Given the description of an element on the screen output the (x, y) to click on. 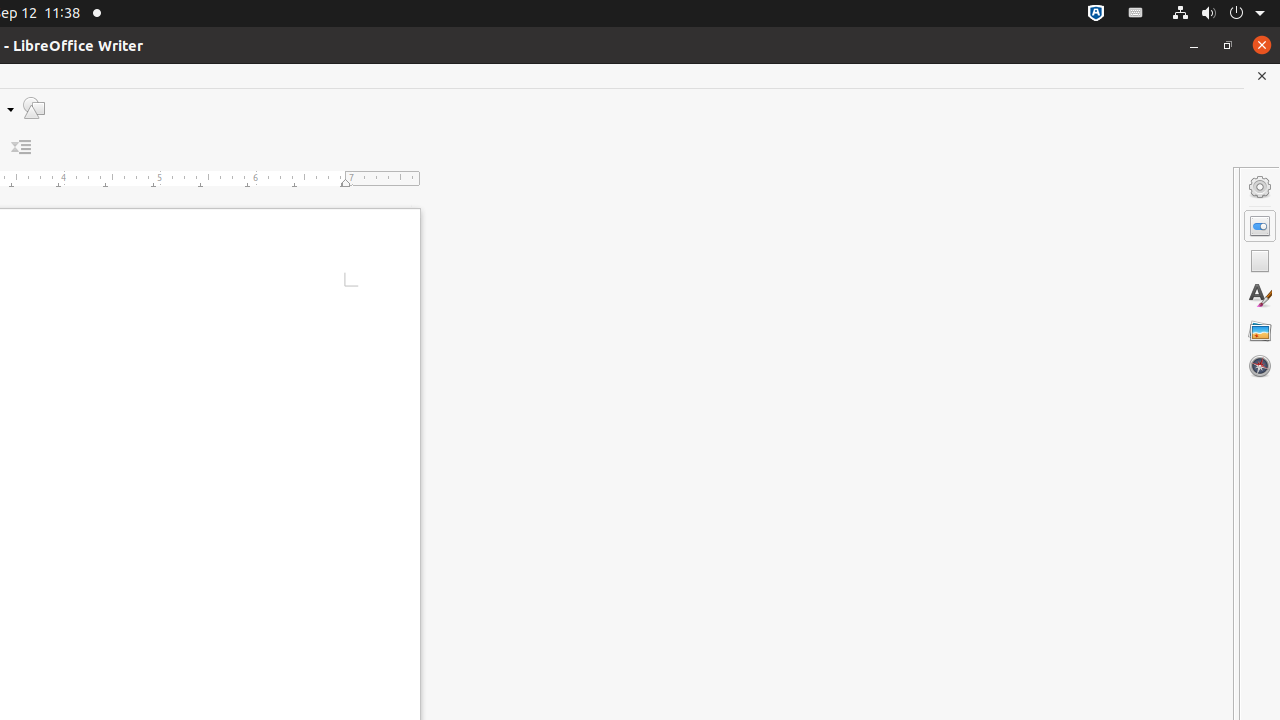
System Element type: menu (1218, 13)
Styles Element type: radio-button (1260, 296)
Gallery Element type: radio-button (1260, 331)
:1.72/StatusNotifierItem Element type: menu (1096, 13)
Properties Element type: radio-button (1260, 226)
